Given the description of an element on the screen output the (x, y) to click on. 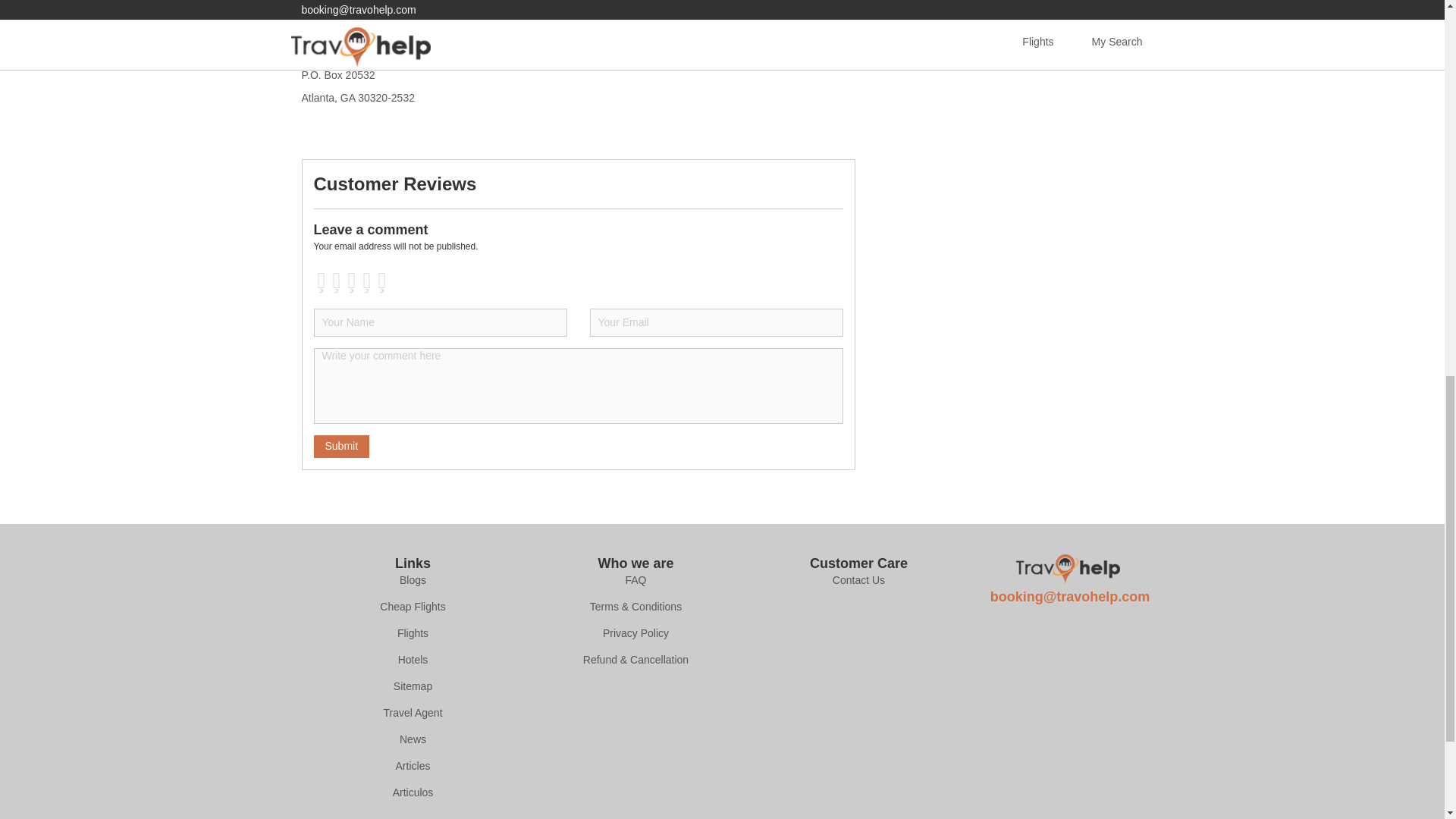
Submit (341, 445)
Articles (412, 766)
Privacy Policy (635, 633)
Flights (412, 633)
News (412, 739)
Image Title (1067, 568)
Hotels (412, 660)
Articulos (412, 792)
Blogs (412, 580)
Cheap Flights (412, 607)
Travel Agent (412, 713)
Contact Us (858, 580)
FAQ (635, 580)
Sitemap (412, 686)
